Given the description of an element on the screen output the (x, y) to click on. 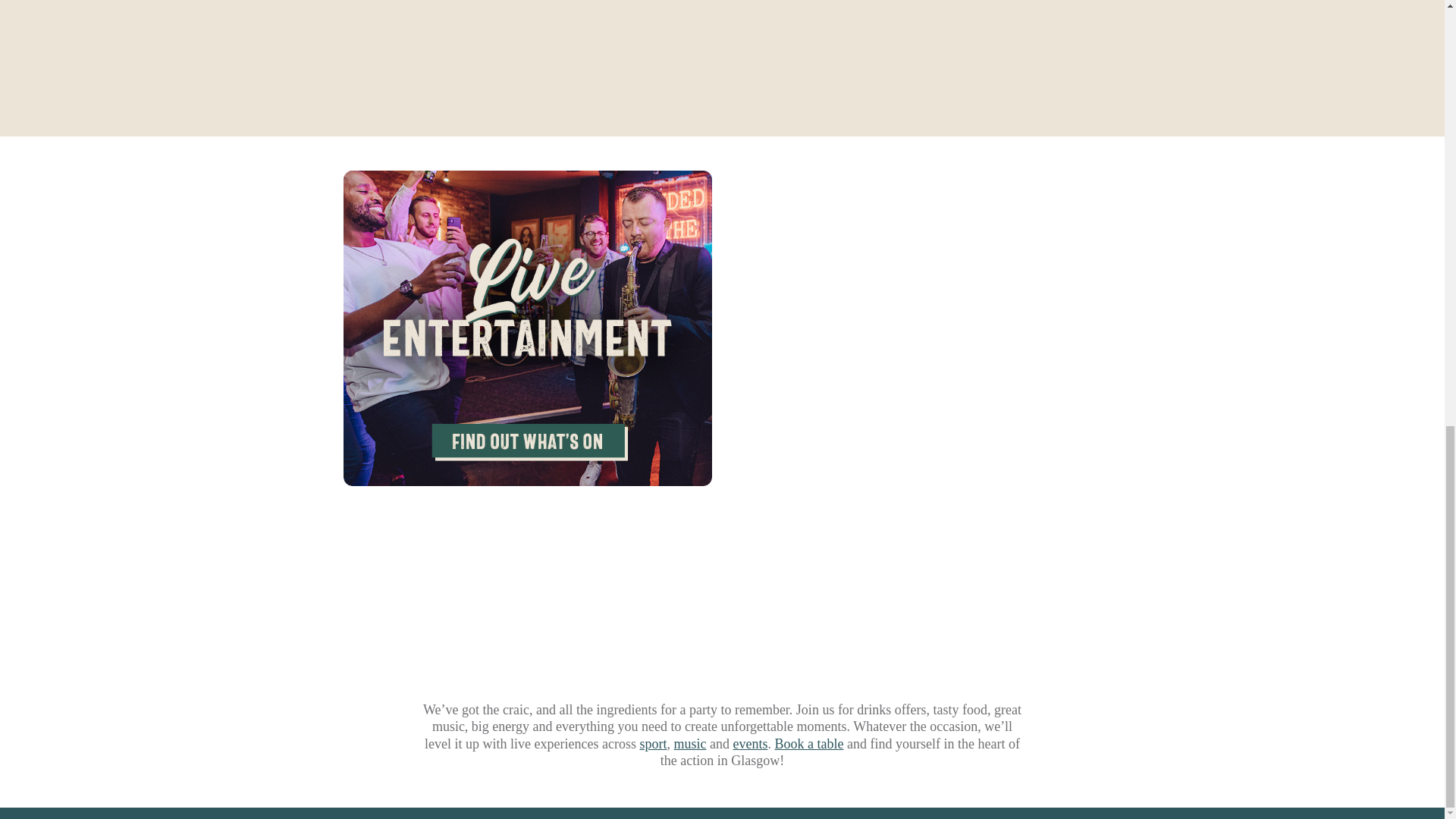
sport (653, 743)
music (689, 743)
Book a table (808, 743)
events (749, 743)
